Given the description of an element on the screen output the (x, y) to click on. 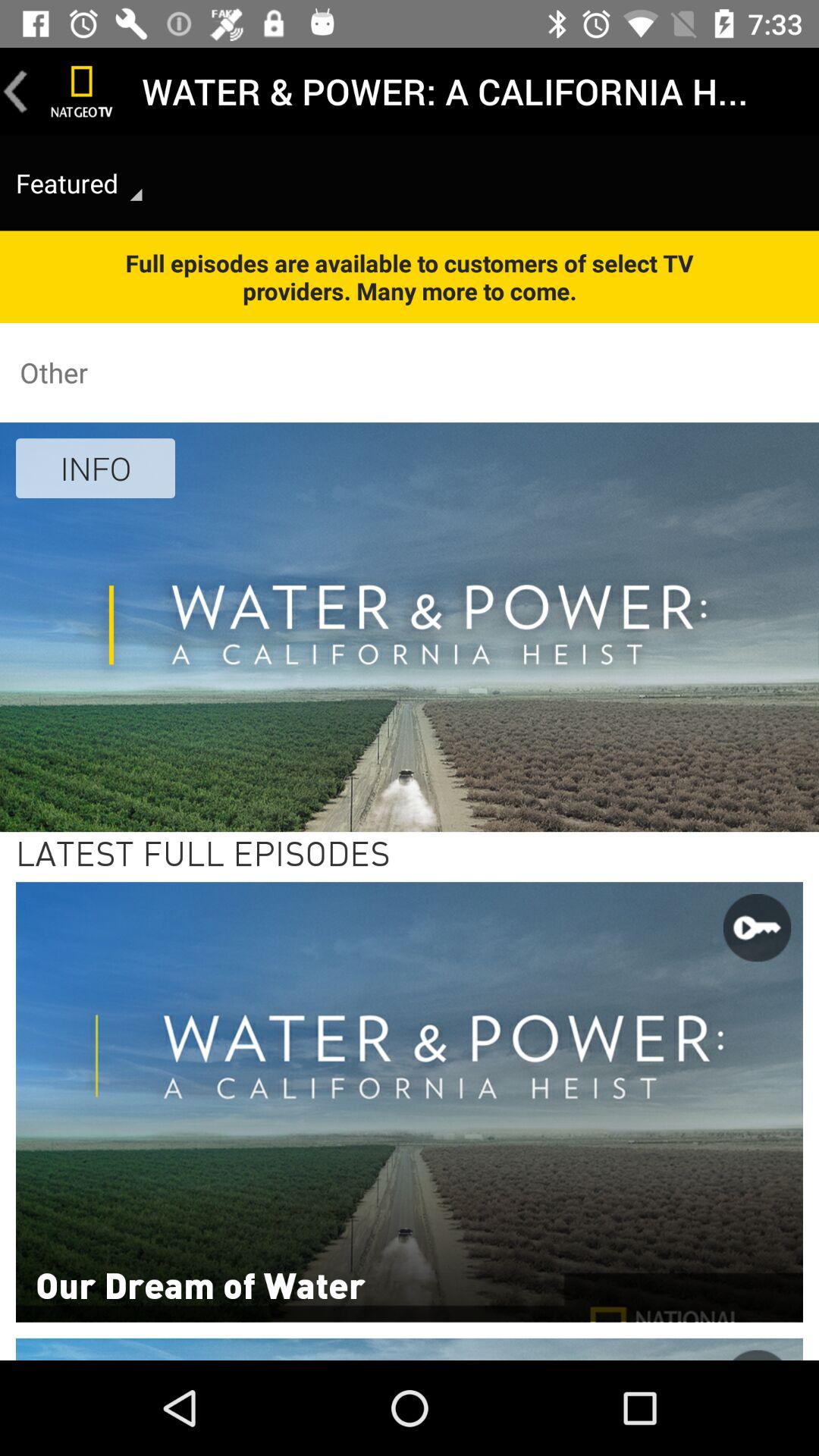
press the item above the latest full episodes item (95, 468)
